Given the description of an element on the screen output the (x, y) to click on. 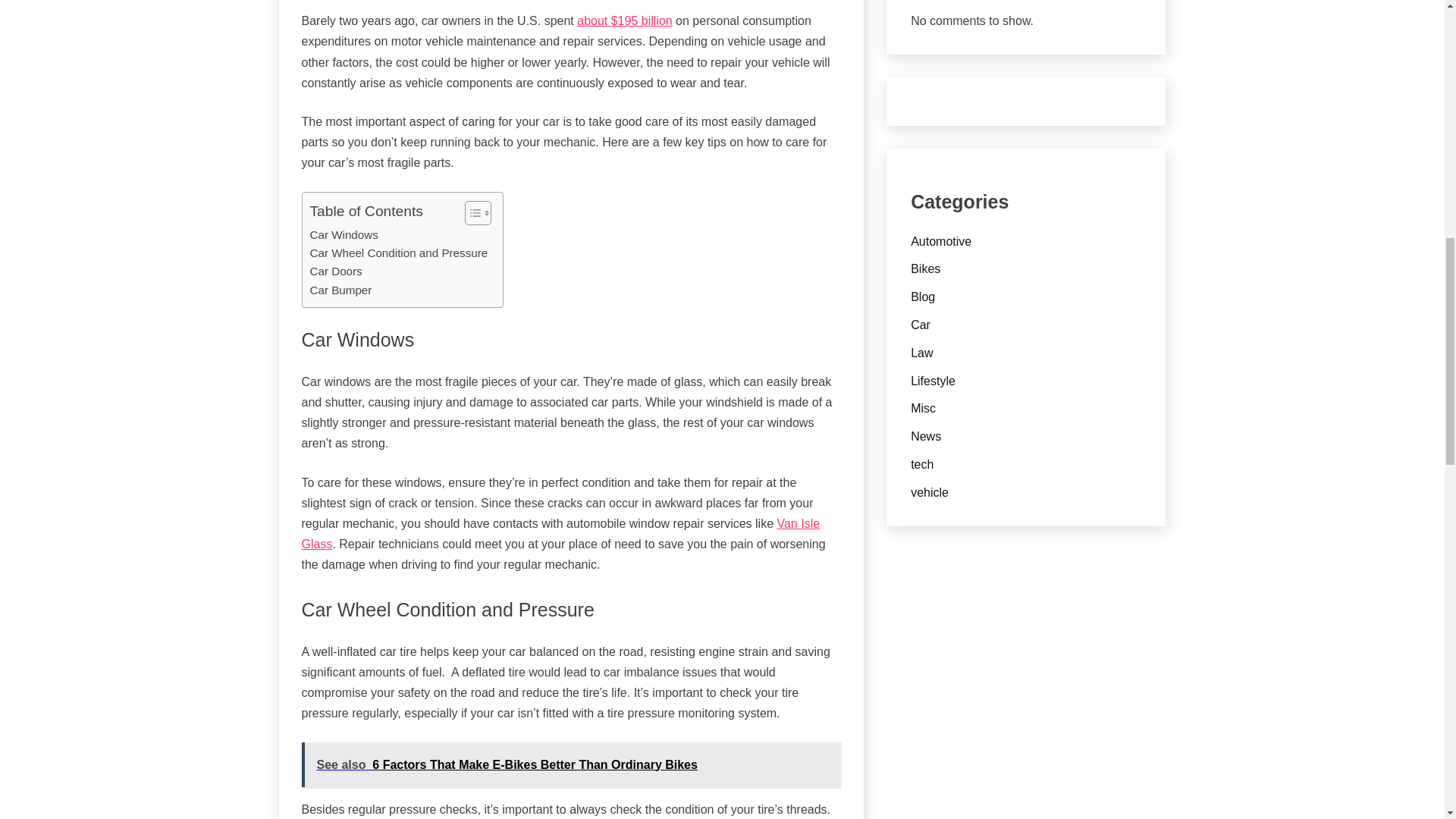
Car Windows (342, 235)
Car Bumper (339, 290)
Car Wheel Condition and Pressure (397, 253)
Car Bumper (339, 290)
Car Doors (334, 271)
Car Doors (334, 271)
Car Wheel Condition and Pressure (397, 253)
Car Windows (342, 235)
Van Isle Glass (561, 533)
